Given the description of an element on the screen output the (x, y) to click on. 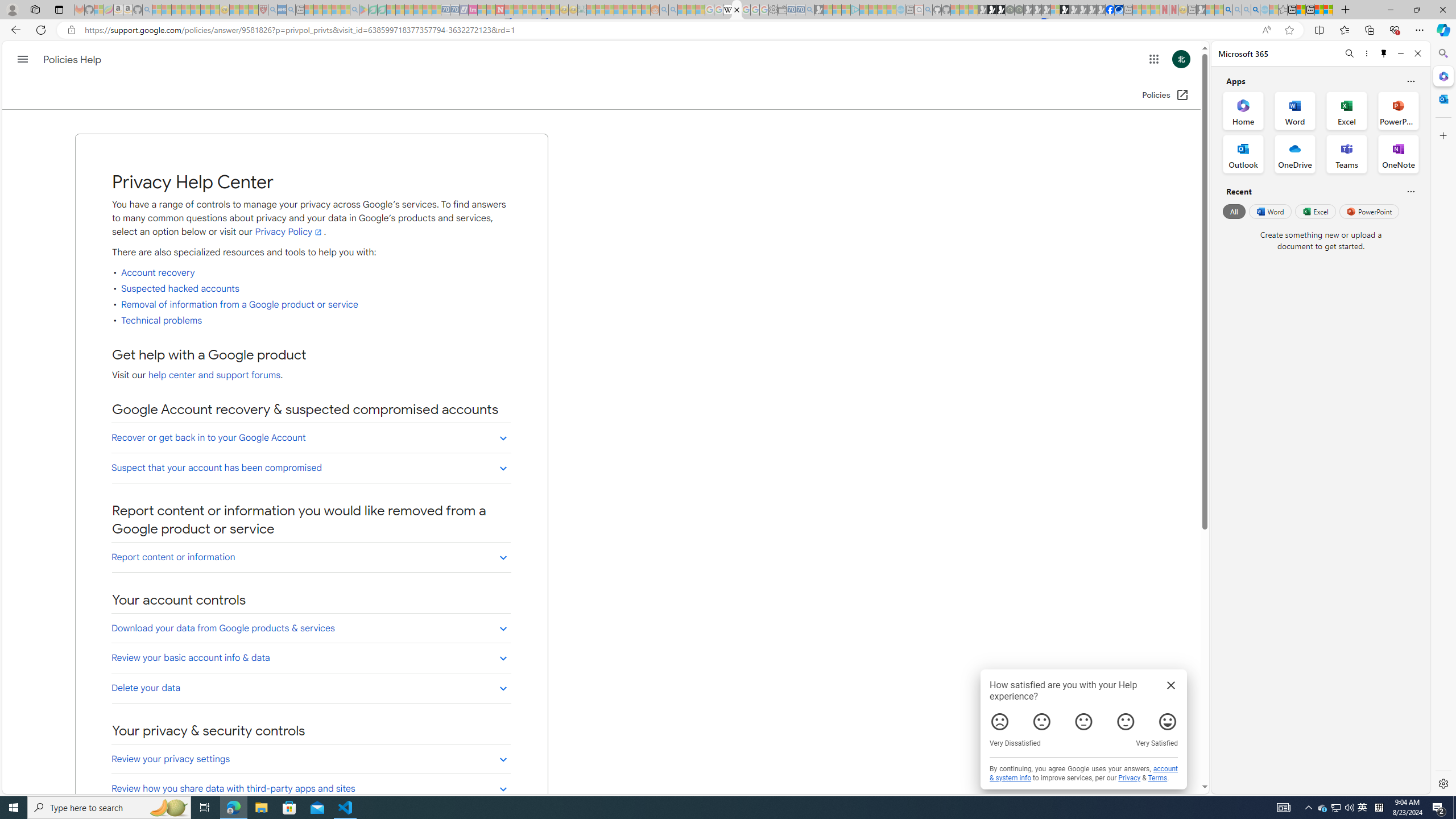
Smiley 1 of 5. Very dissatisfied Very Dissatisfied (999, 721)
Is this helpful? (1410, 191)
Class: gb_E (1153, 59)
Close user survey dialog (1171, 684)
